Given the description of an element on the screen output the (x, y) to click on. 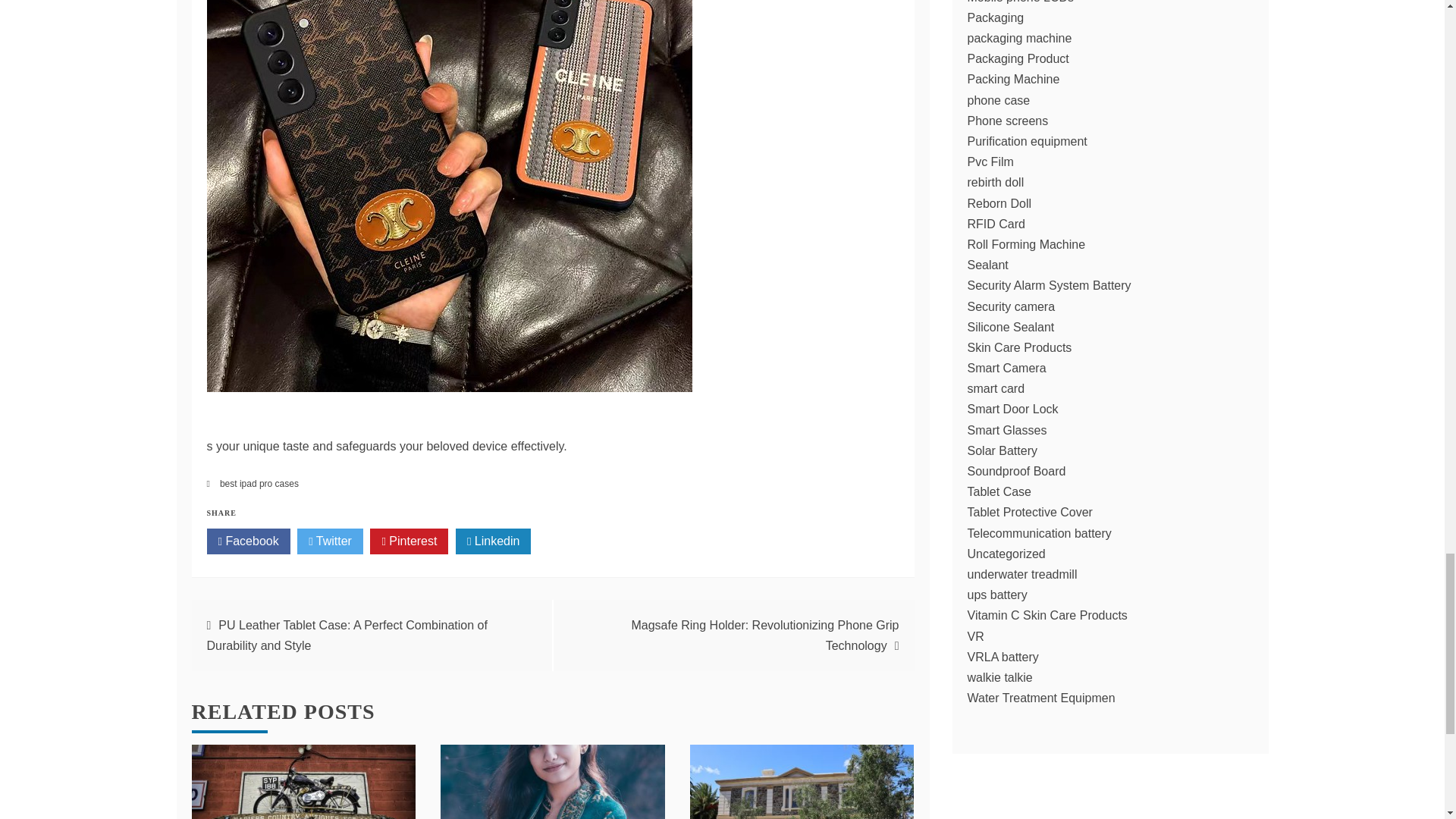
Twitter (329, 541)
Magsafe Ring Holder: Revolutionizing Phone Grip Technology (764, 635)
Pinterest (408, 541)
best ipad pro cases (258, 483)
Facebook (247, 541)
Linkedin (493, 541)
